Given the description of an element on the screen output the (x, y) to click on. 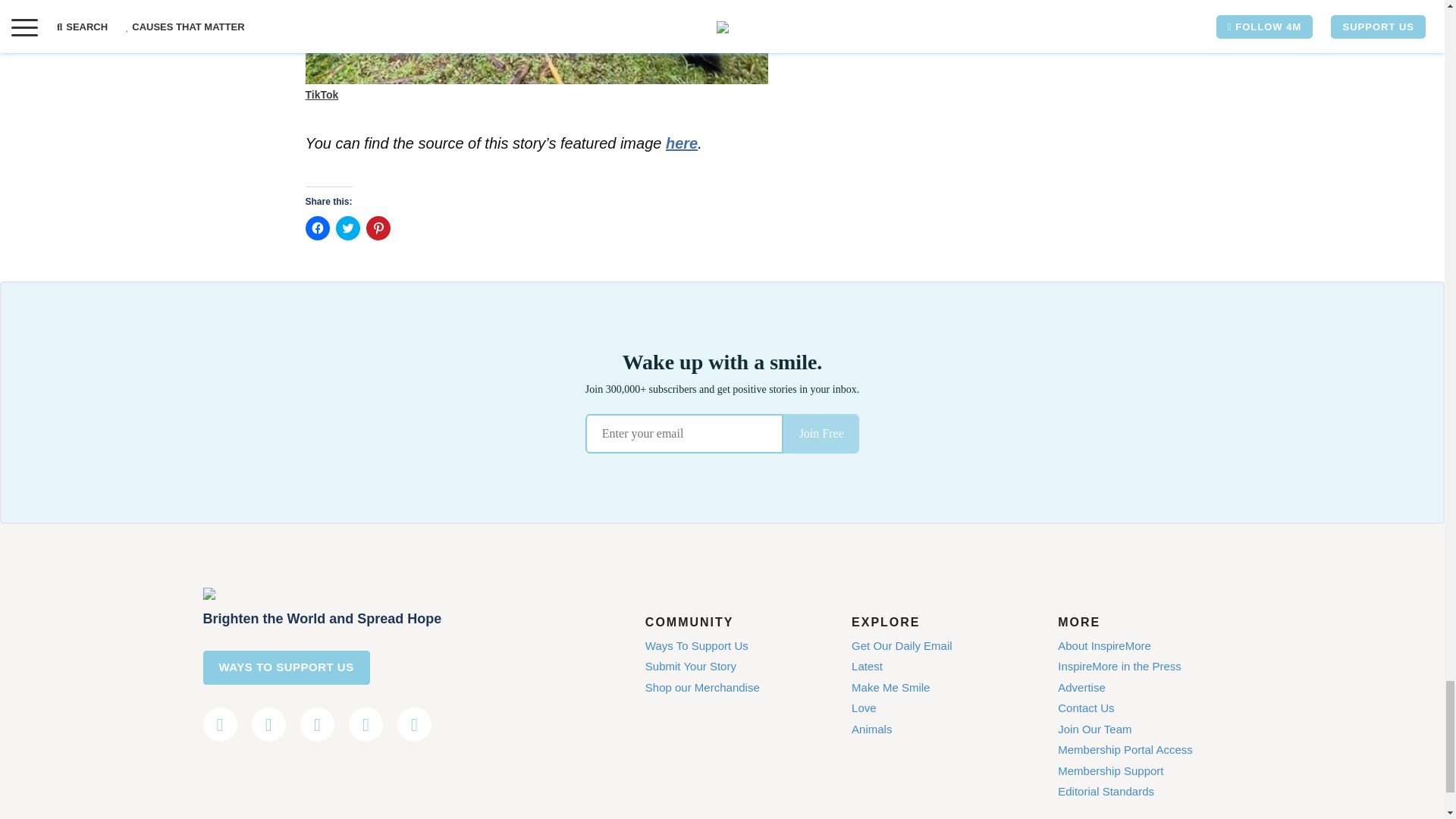
here (681, 143)
Click to share on Twitter (346, 228)
Click to share on Facebook (316, 228)
Click to share on Pinterest (377, 228)
TikTok (320, 94)
